Given the description of an element on the screen output the (x, y) to click on. 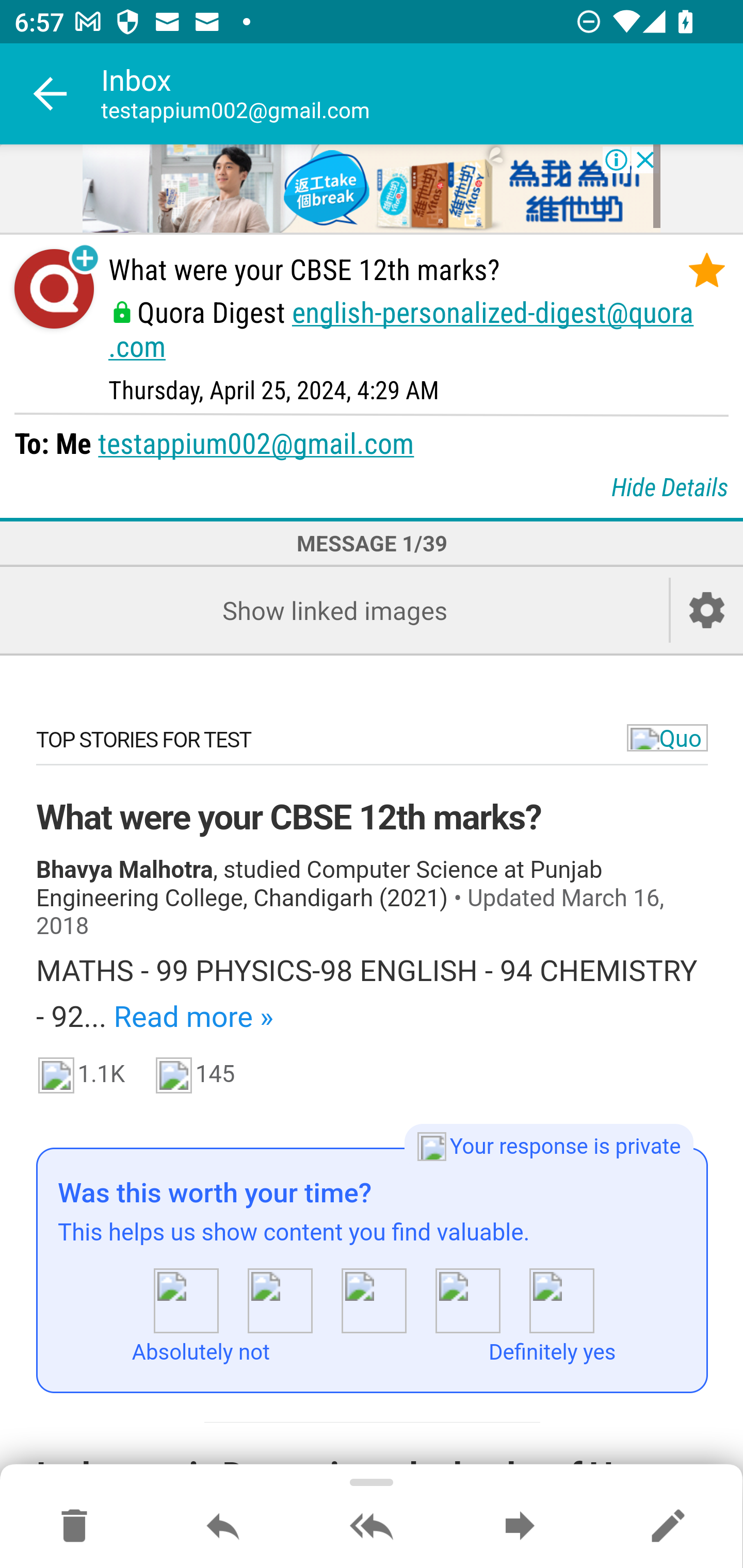
Navigate up (50, 93)
Inbox testappium002@gmail.com (422, 93)
Sender contact button (53, 289)
Show linked images (334, 610)
Account setup (706, 610)
Quora (666, 737)
What were your CBSE 12th marks? (288, 818)
Updated March 16, 2018 (351, 913)
Move to Deleted (74, 1527)
Reply (222, 1527)
Reply all (371, 1527)
Forward (519, 1527)
Reply as new (667, 1527)
